Given the description of an element on the screen output the (x, y) to click on. 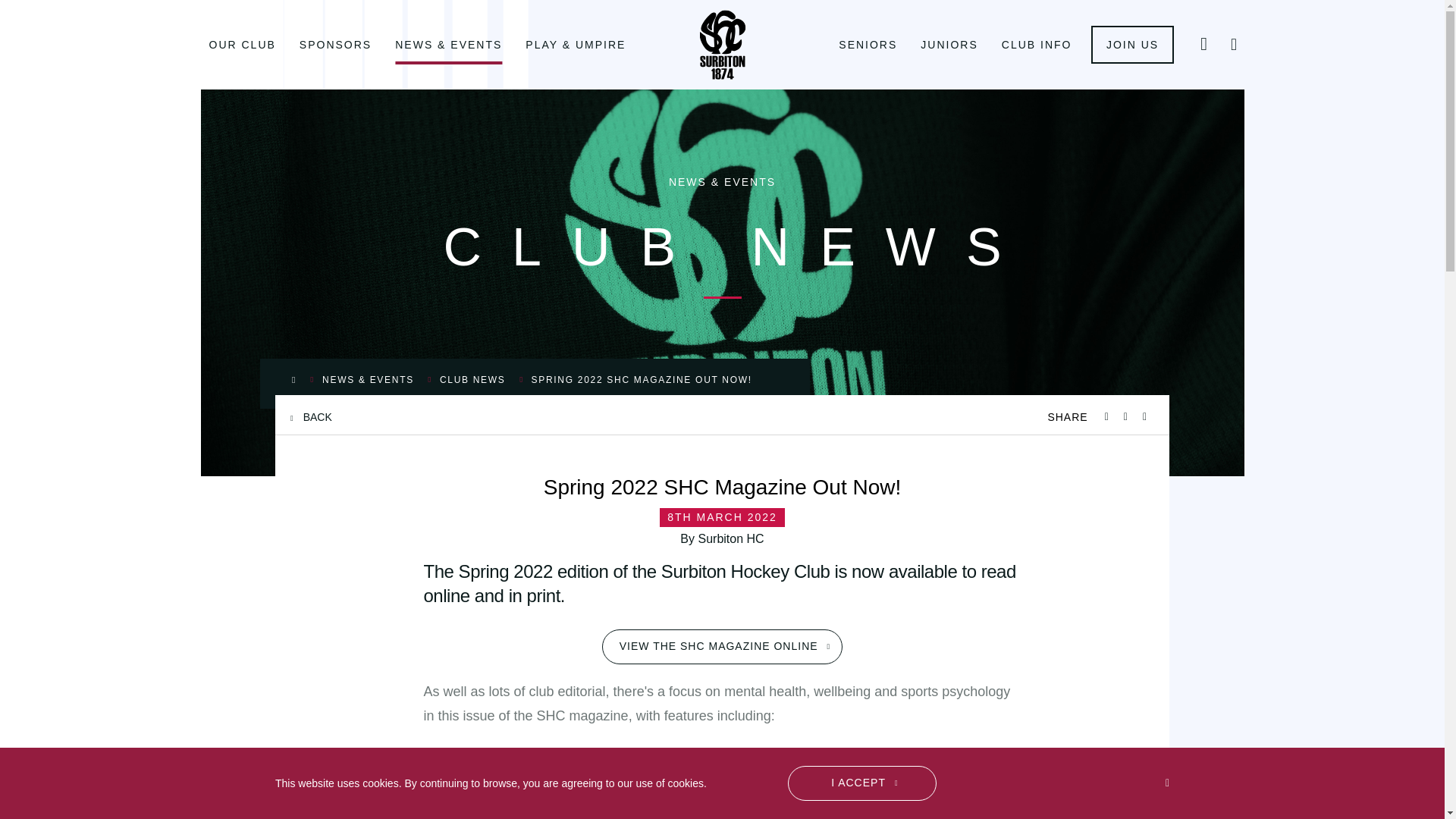
OUR CLUB (241, 44)
SPONSORS (334, 44)
I ACCEPT (861, 782)
